Given the description of an element on the screen output the (x, y) to click on. 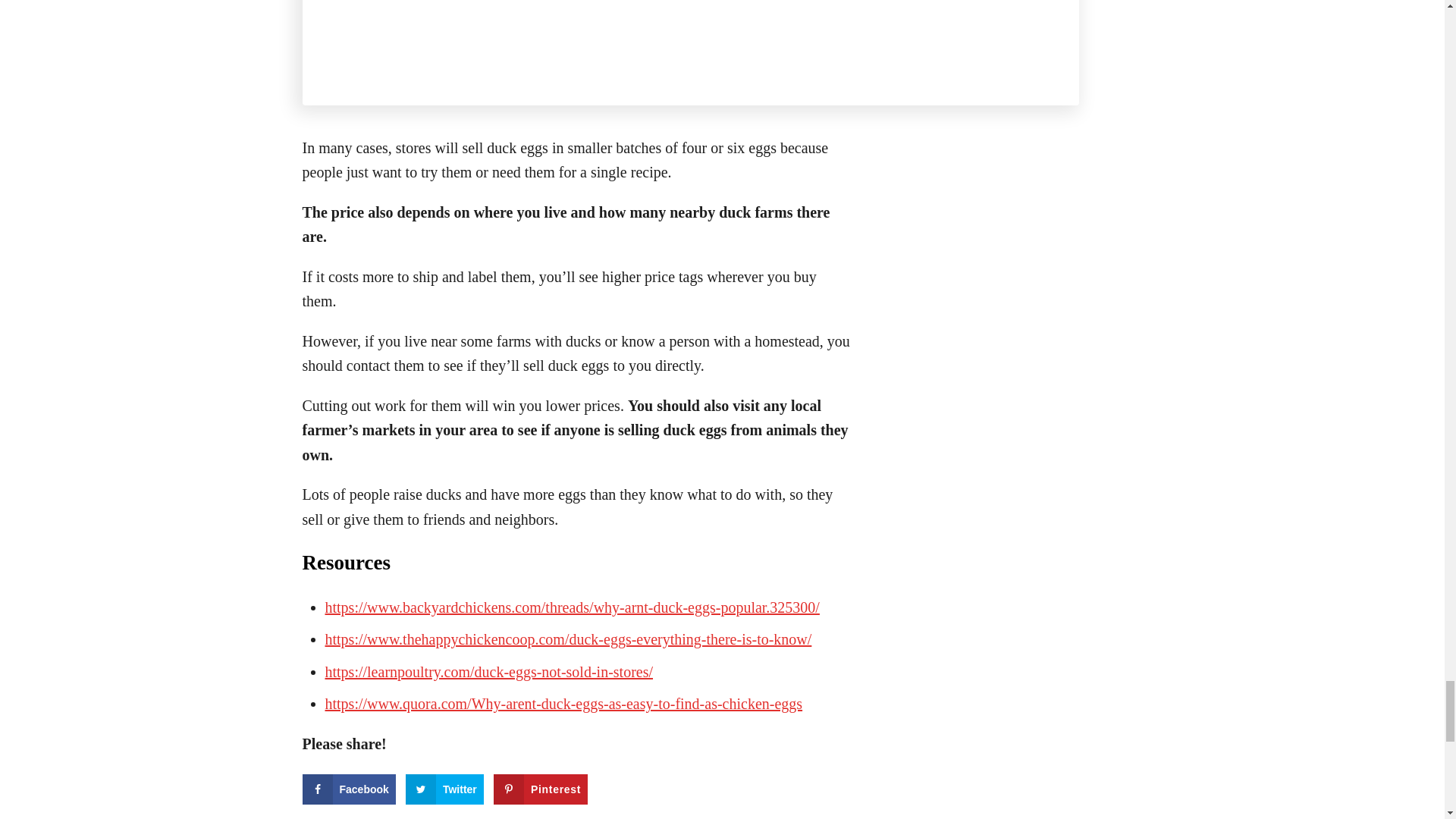
Pinterest (540, 788)
Facebook (347, 788)
Twitter (444, 788)
